Given the description of an element on the screen output the (x, y) to click on. 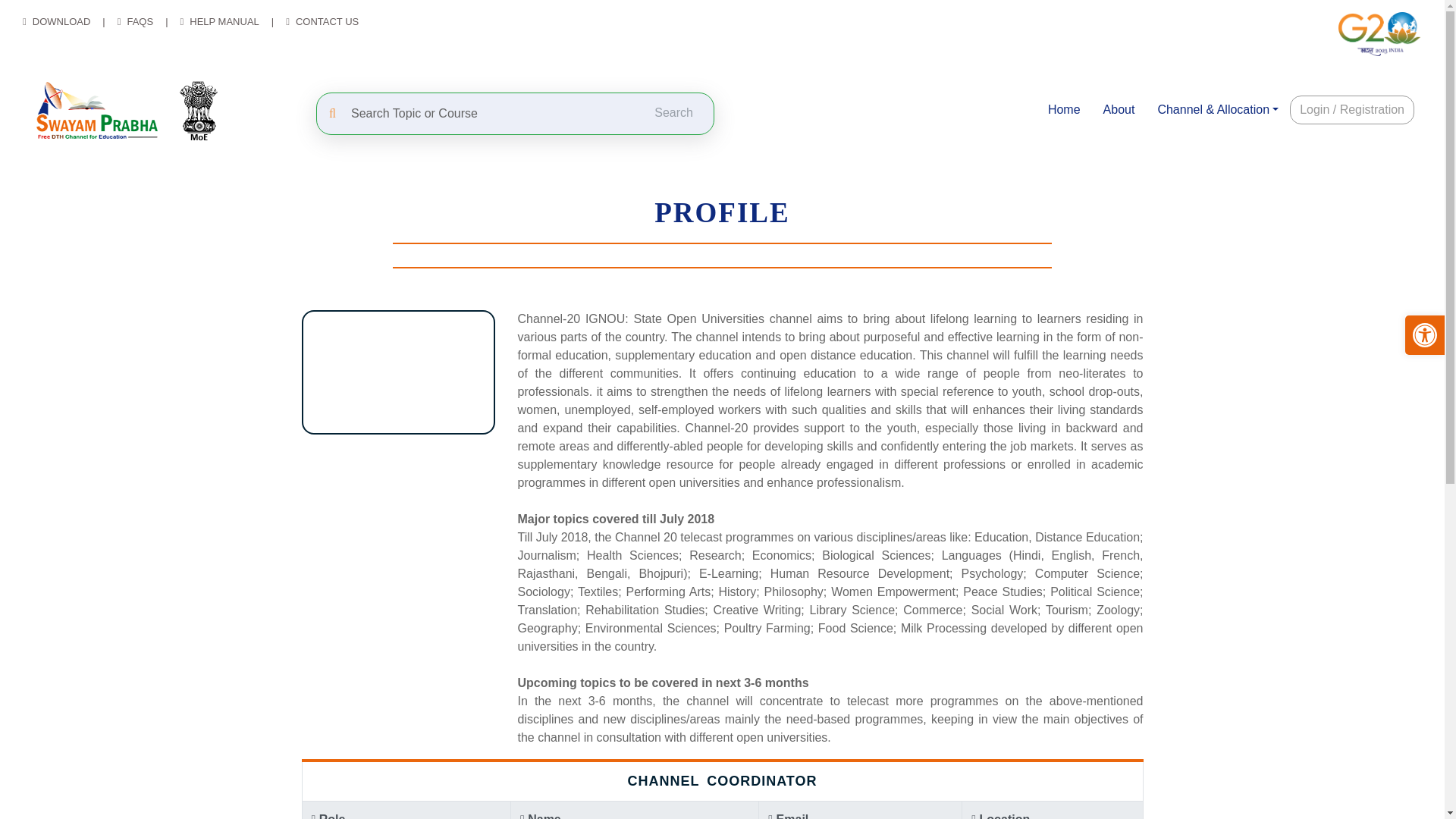
HELP MANUAL (224, 21)
DOWNLOAD (61, 21)
FAQS (139, 21)
Search (674, 112)
CONTACT US (326, 21)
